Given the description of an element on the screen output the (x, y) to click on. 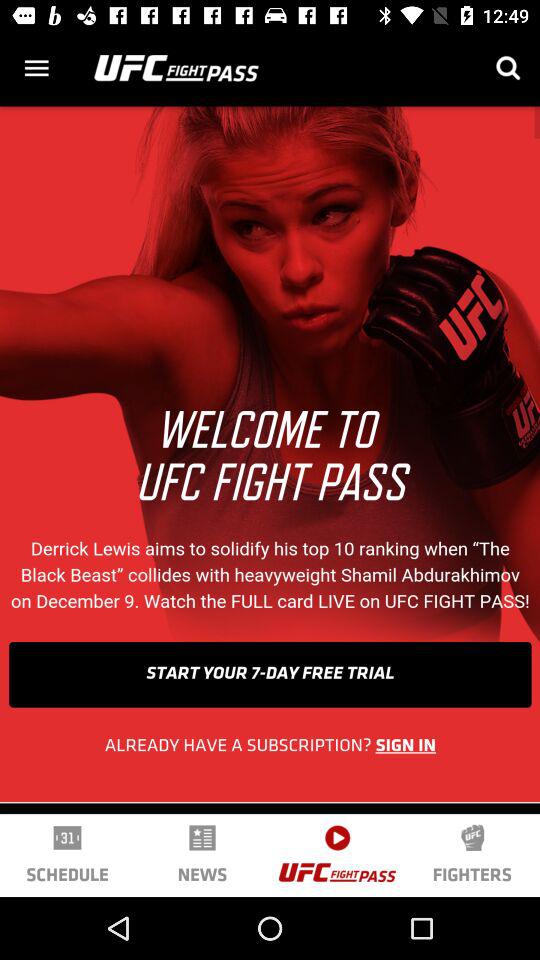
go to maun (36, 68)
